Given the description of an element on the screen output the (x, y) to click on. 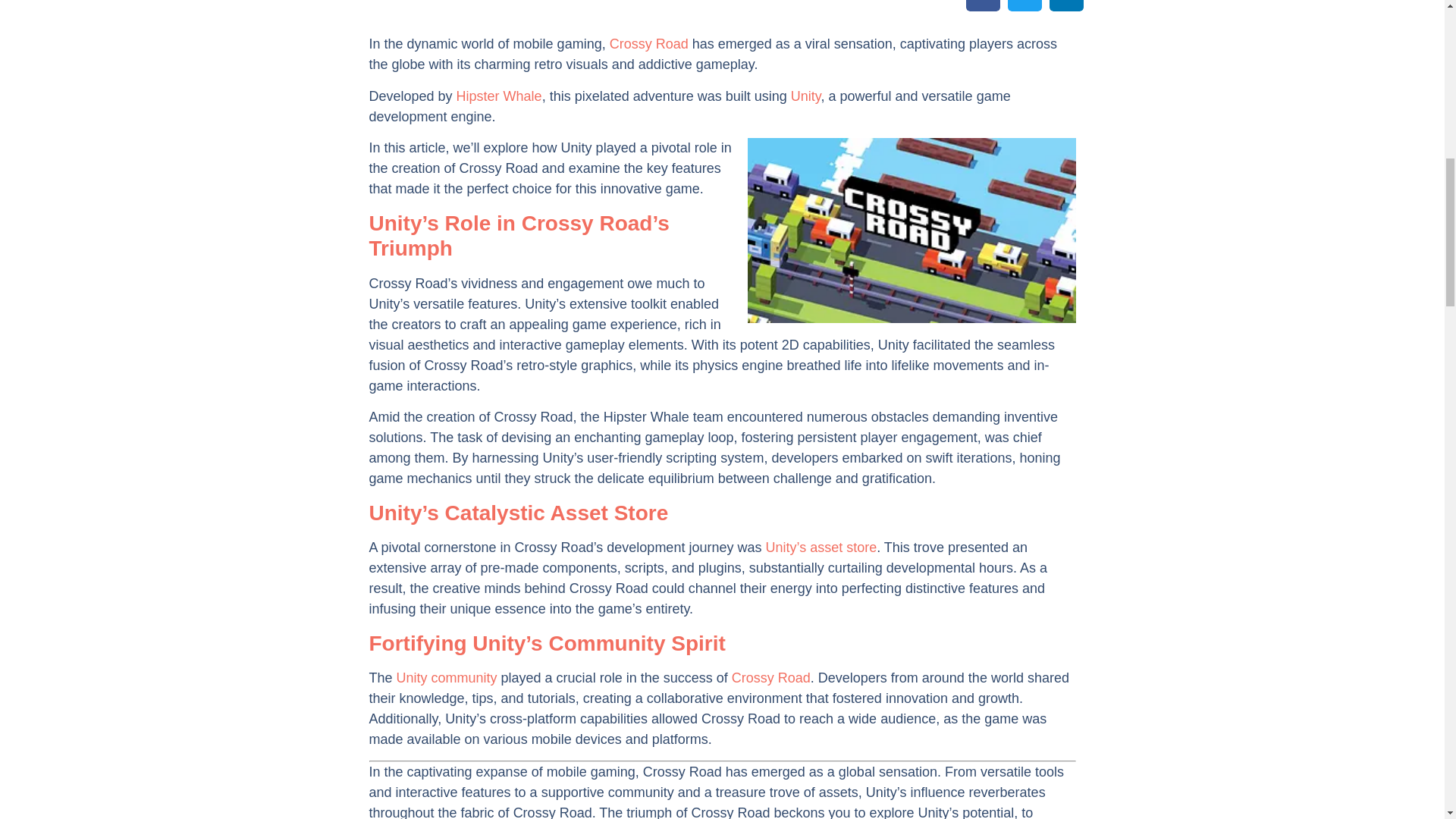
Unity (805, 96)
Crossy Road (771, 677)
Hipster Whale (499, 96)
Crossy Road (649, 43)
Unity community (446, 677)
